Given the description of an element on the screen output the (x, y) to click on. 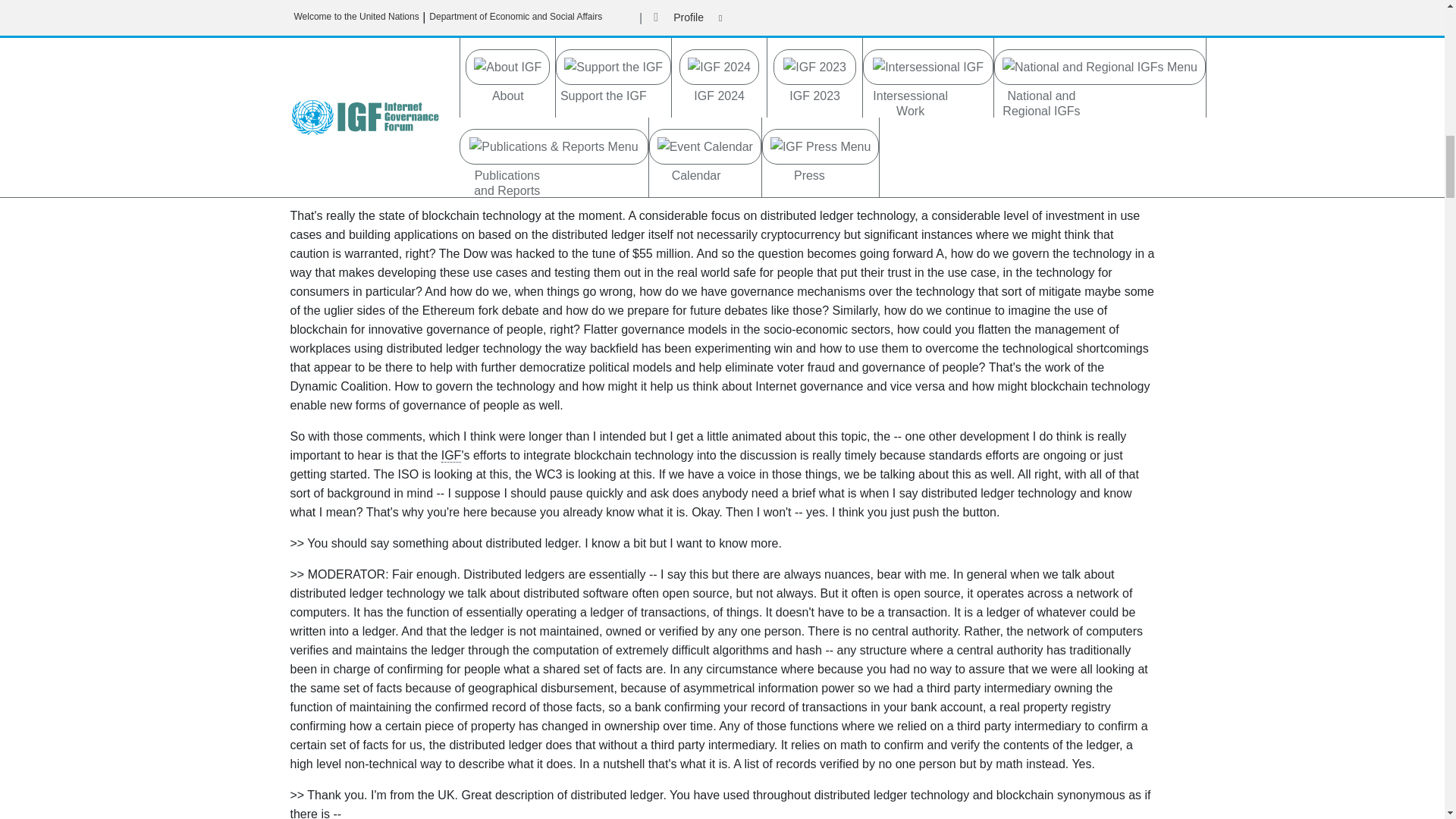
Internet Governance Forum  (451, 455)
